Given the description of an element on the screen output the (x, y) to click on. 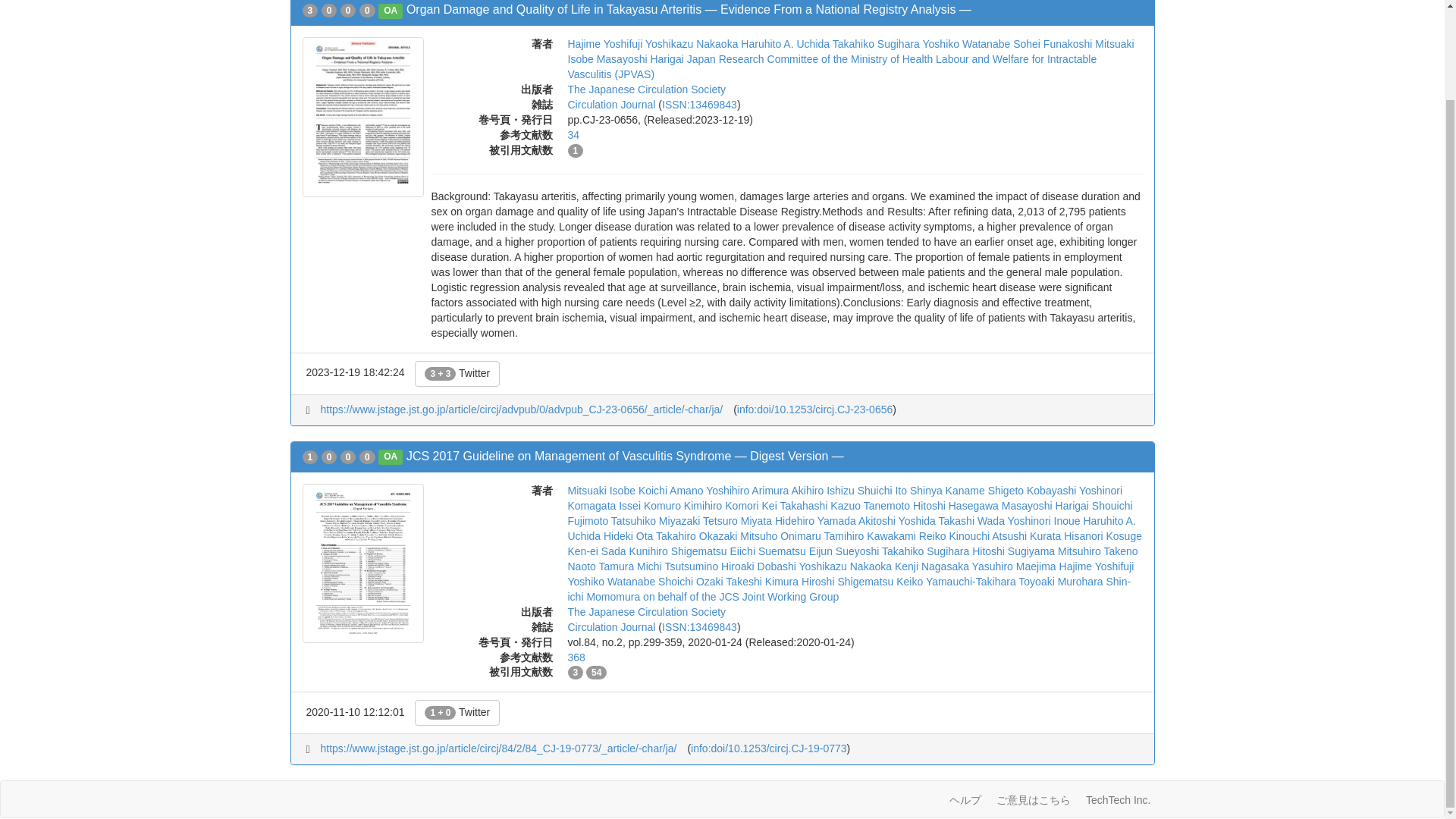
Masayoshi Harigai (640, 59)
Sohei Funakoshi (1052, 43)
Mitsuaki Isobe (850, 51)
The Japanese Circulation Society (646, 89)
ISSN:13469843 (699, 104)
Takahiko Sugihara (876, 43)
34 (573, 134)
Hajime Yoshifuji (604, 43)
Yoshikazu Nakaoka (691, 43)
Haruhito A. Uchida (785, 43)
